Given the description of an element on the screen output the (x, y) to click on. 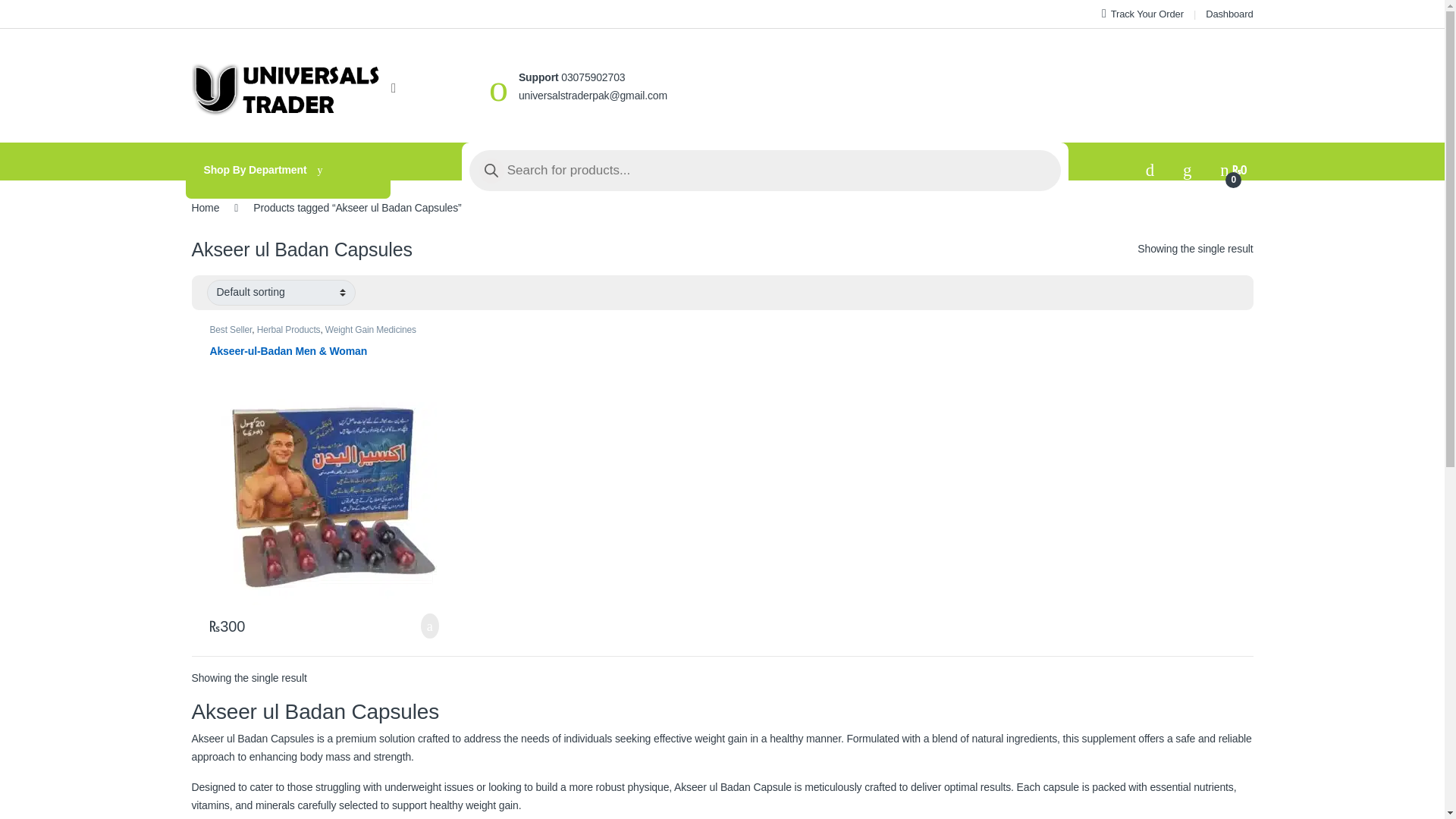
Dashboard (1228, 13)
Shop By Department (287, 170)
Herbal Products (288, 329)
Track Your Order (1142, 13)
Dashboard (1228, 13)
Weight Gain Medicines (370, 329)
Track Your Order (1142, 13)
Best Seller (230, 329)
Home (204, 207)
